Given the description of an element on the screen output the (x, y) to click on. 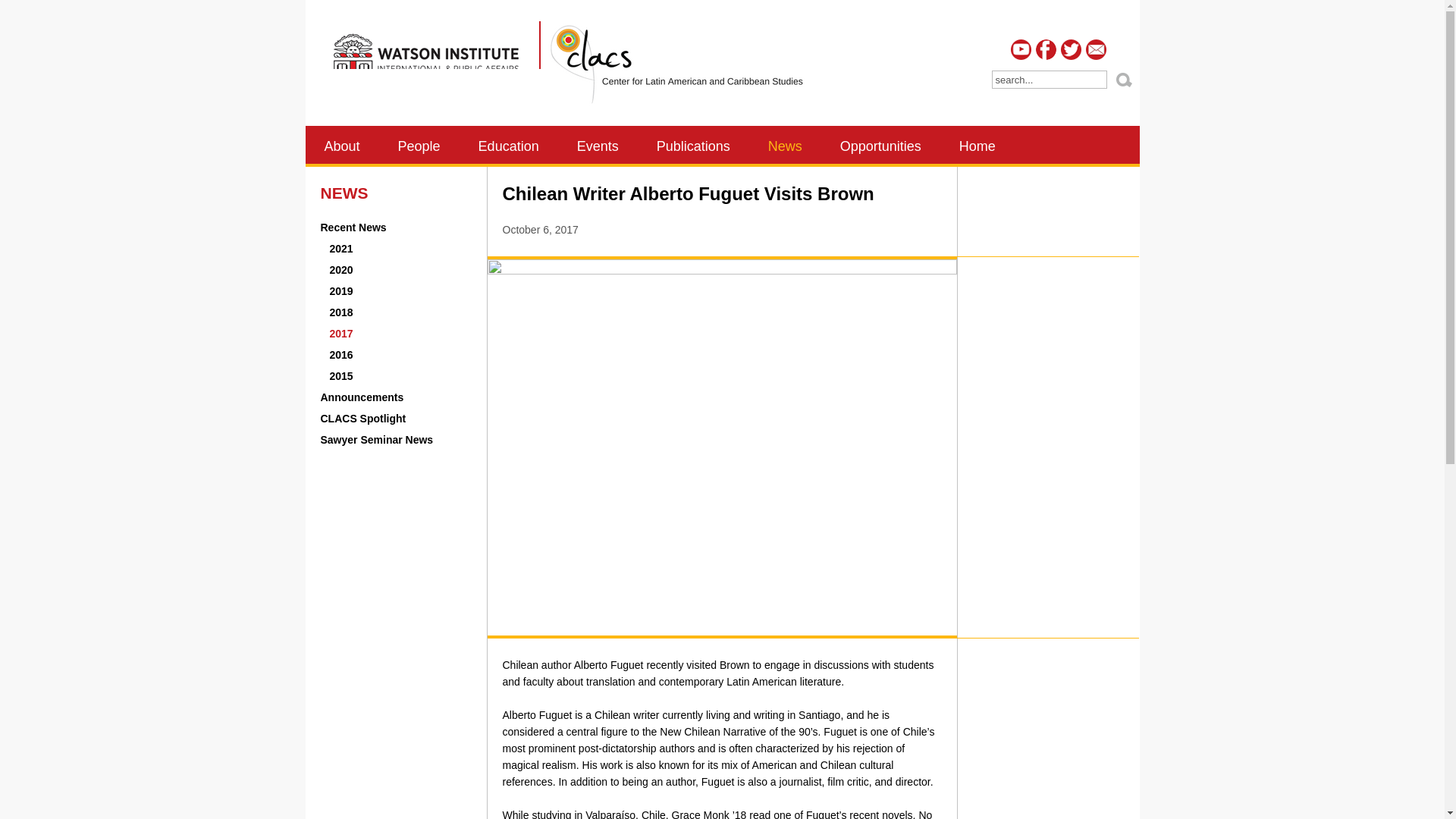
CLACS home (674, 64)
search... (1048, 79)
Go (1124, 79)
Go (1124, 79)
Events (597, 144)
Enter the terms you wish to search for. (1048, 79)
Education (508, 144)
About (341, 144)
People (419, 144)
Watson Institute home (430, 64)
